Given the description of an element on the screen output the (x, y) to click on. 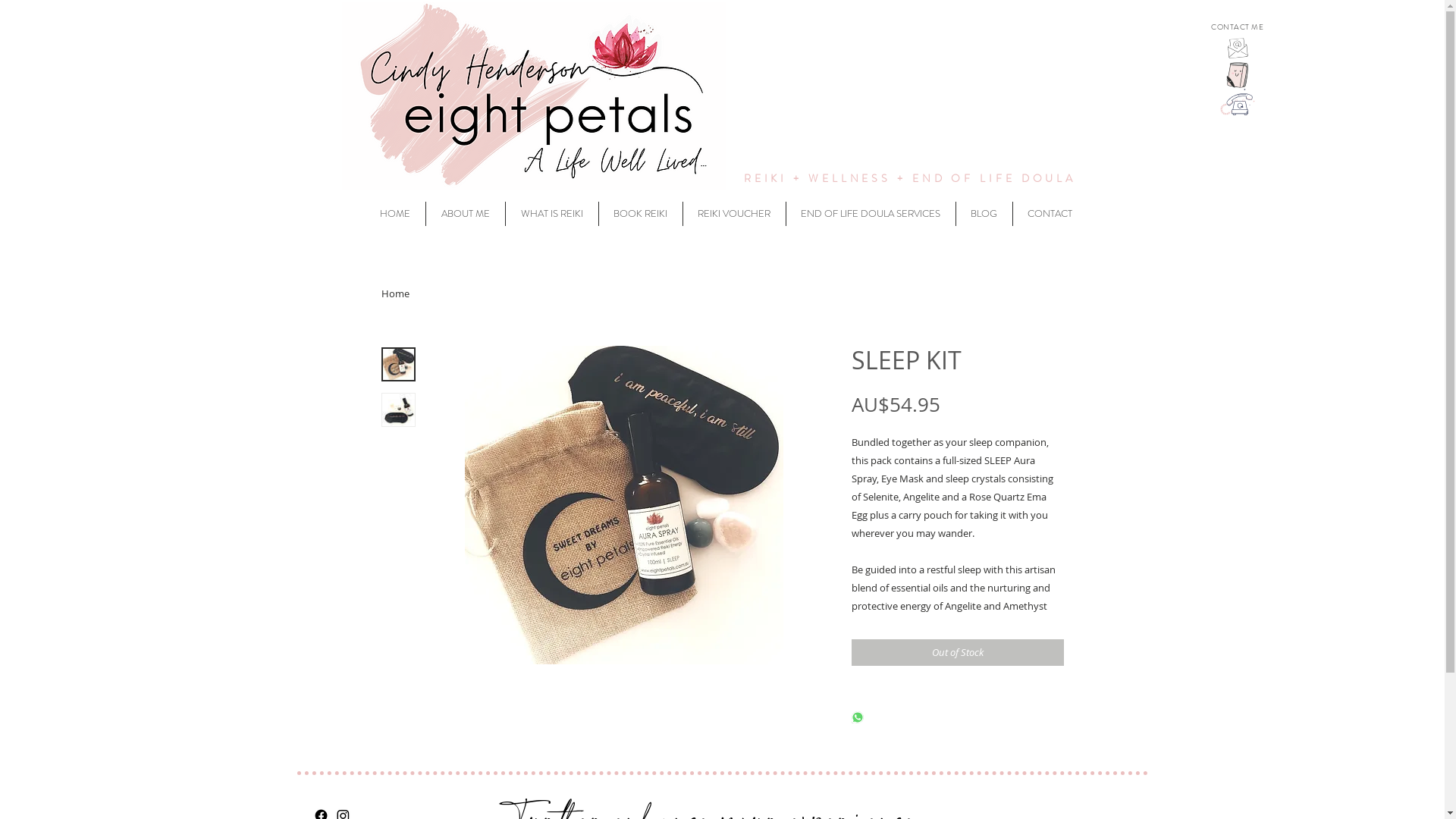
CONTACT Element type: text (1050, 213)
Out of Stock Element type: text (956, 652)
WHAT IS REIKI Element type: text (551, 213)
BOOK REIKI Element type: text (640, 213)
REIKI VOUCHER Element type: text (733, 213)
REIKI + WELLNESS + END OF LIFE DOULA Element type: text (909, 177)
HOME Element type: text (394, 213)
BLOG Element type: text (983, 213)
ABOUT ME Element type: text (465, 213)
Home Element type: text (394, 293)
END OF LIFE DOULA SERVICES Element type: text (869, 213)
